Given the description of an element on the screen output the (x, y) to click on. 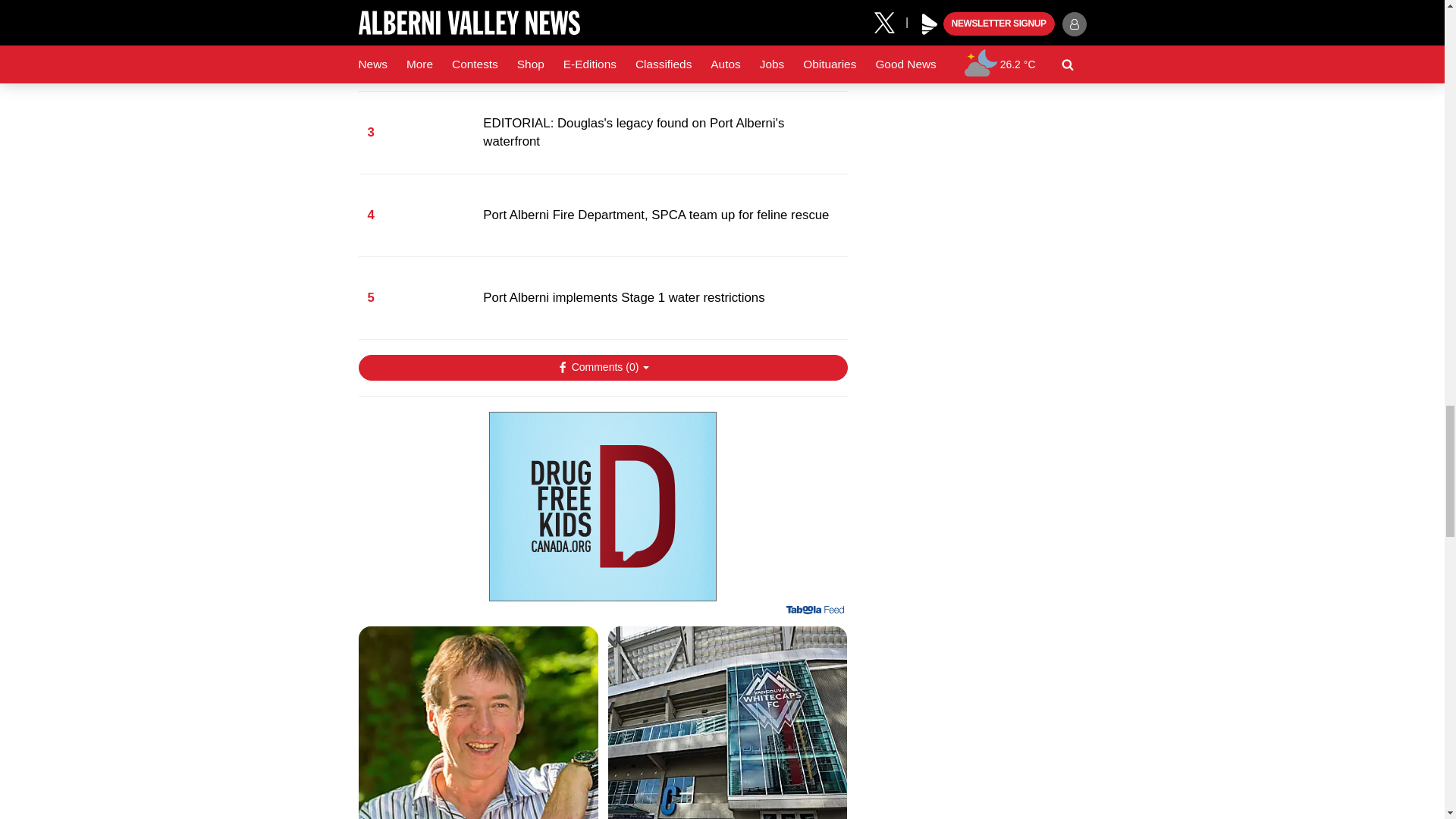
3rd party ad content (602, 506)
Show Comments (602, 367)
